Given the description of an element on the screen output the (x, y) to click on. 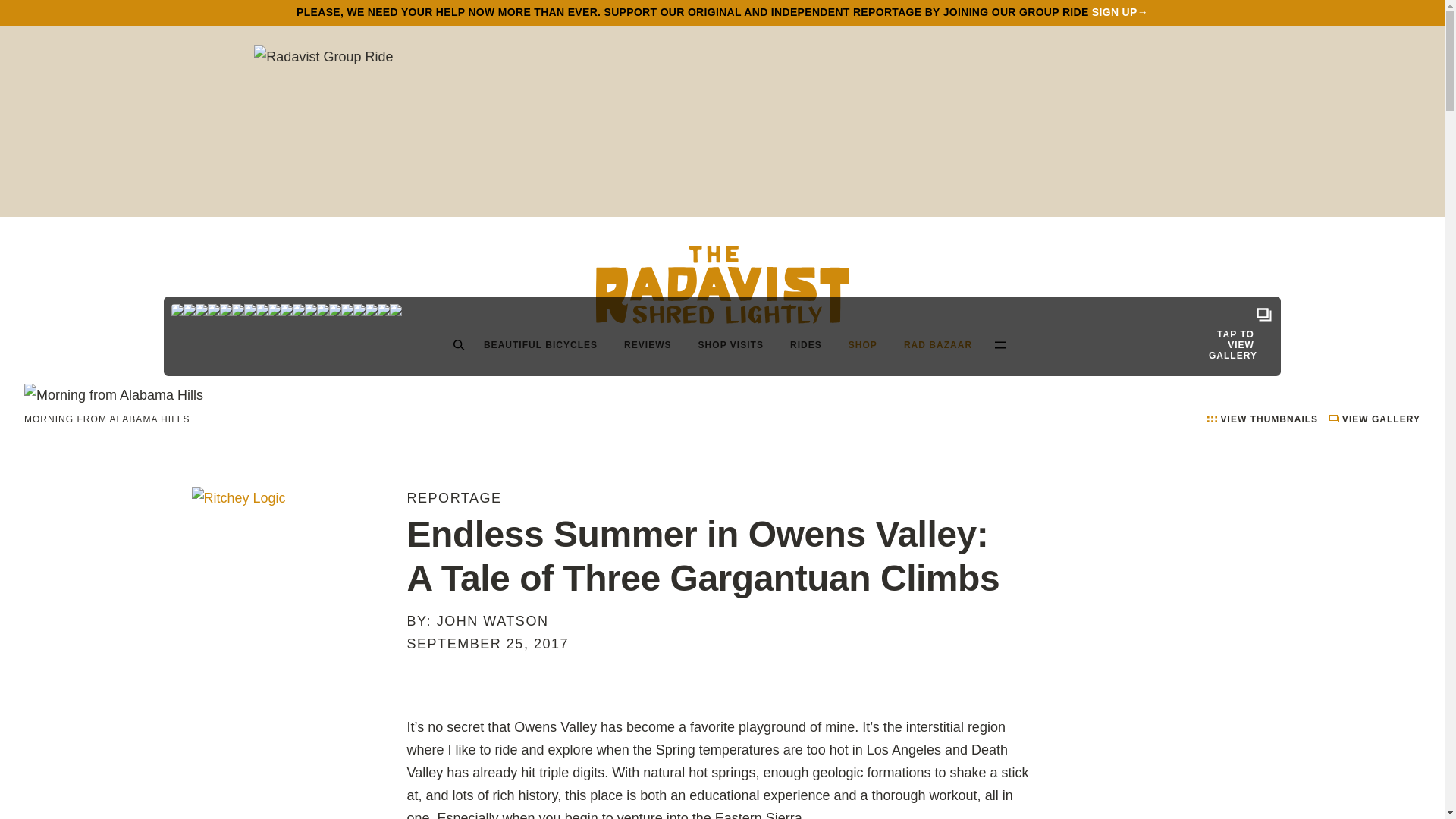
RIDES (805, 344)
The Radavist (721, 284)
RAD BAZAAR (937, 344)
BEAUTIFUL BICYCLES (540, 344)
The Radavist (721, 284)
SHOP VISITS (730, 344)
REVIEWS (647, 344)
SHOP (862, 344)
sticky tall (290, 569)
